Given the description of an element on the screen output the (x, y) to click on. 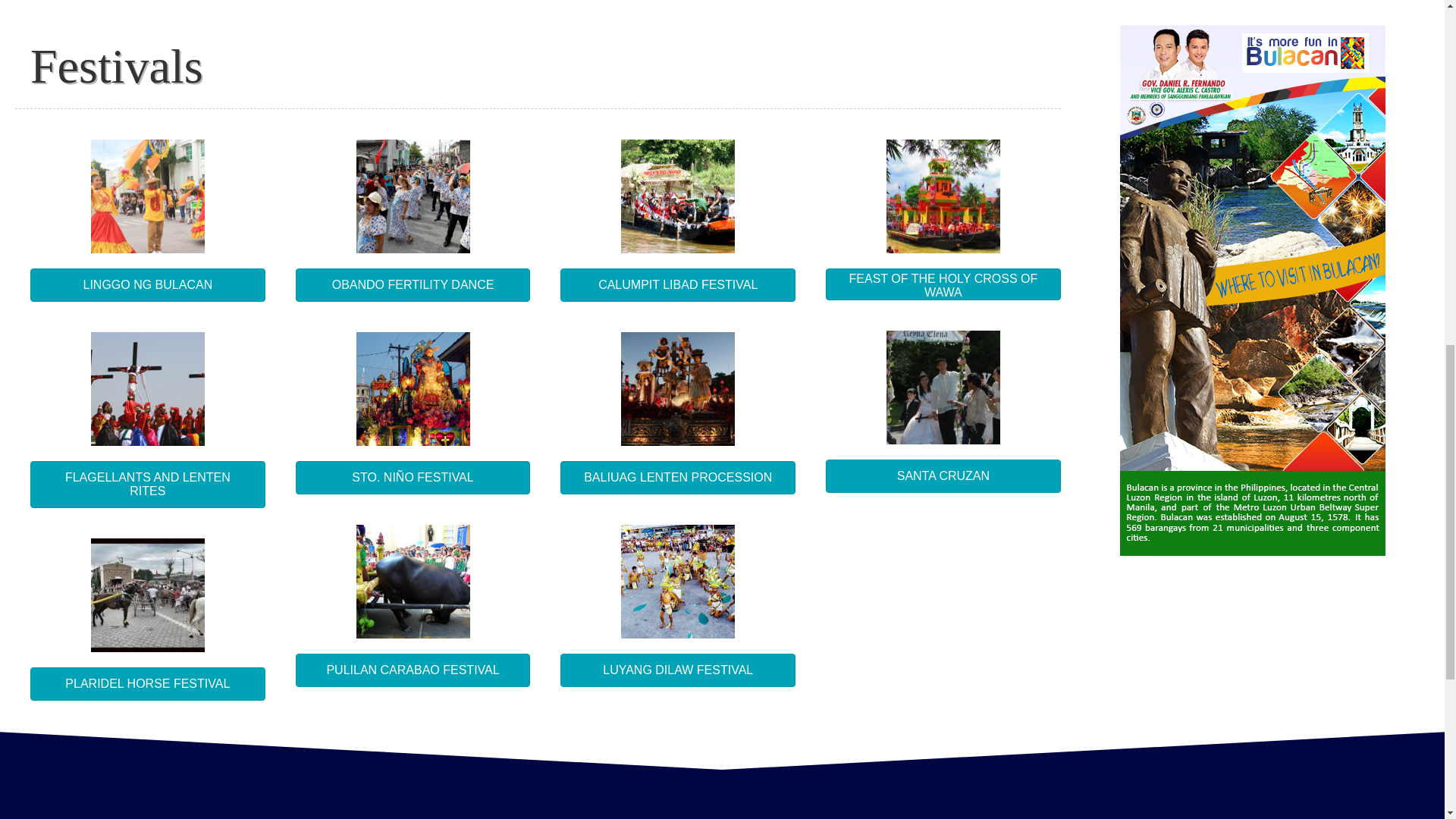
singkaban (147, 196)
wawa (943, 196)
libad (678, 196)
bulacan-statues-holy-week-20150402-014 (678, 388)
blogger-image--159794656 (147, 594)
a87f796ddf402734ca4ca0e597d334ed (413, 581)
obando (413, 196)
